Given the description of an element on the screen output the (x, y) to click on. 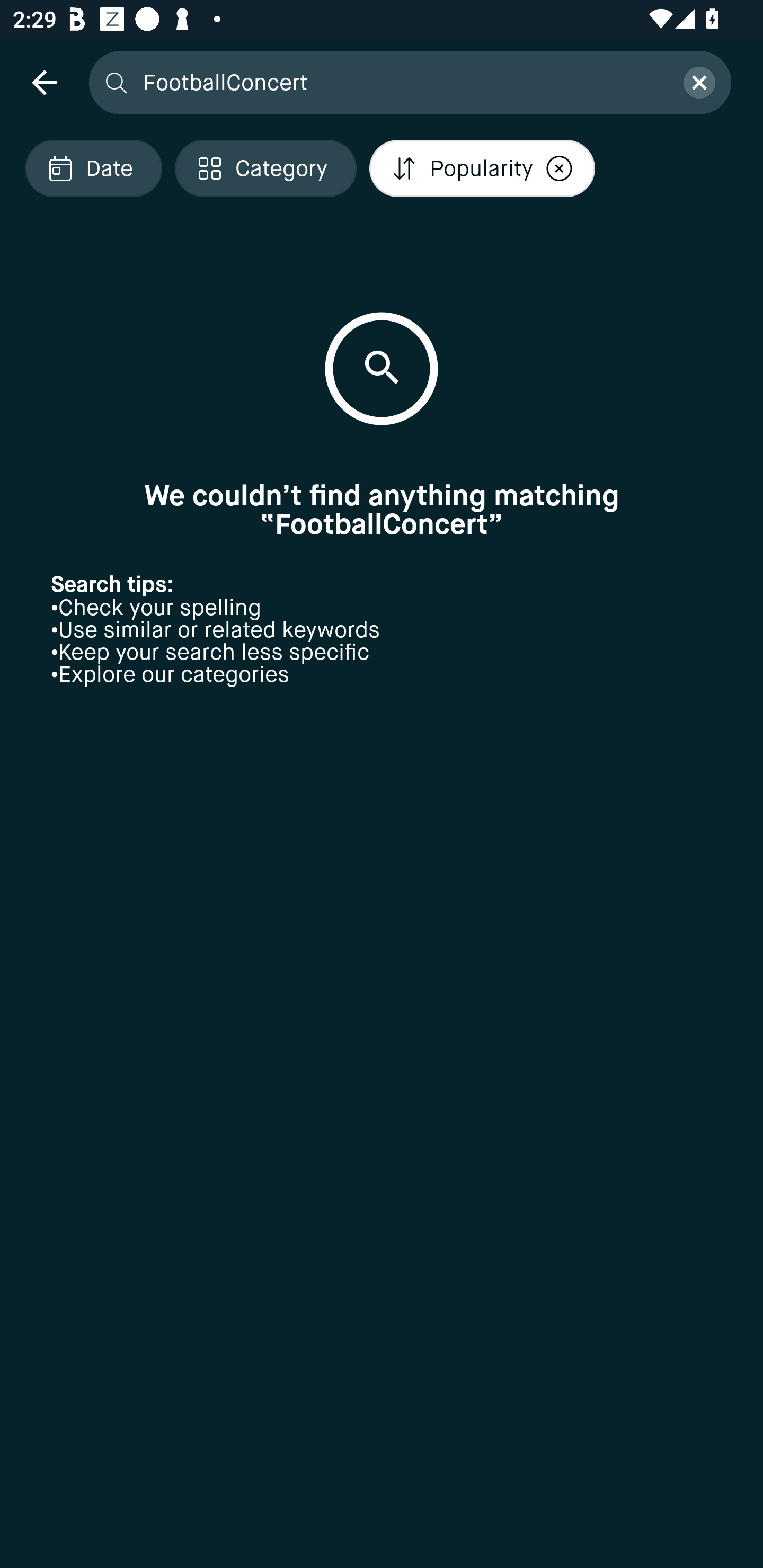
navigation icon (44, 81)
FootballConcert (402, 81)
Localized description Date (93, 168)
Localized description Category (265, 168)
Localized description (559, 168)
